Given the description of an element on the screen output the (x, y) to click on. 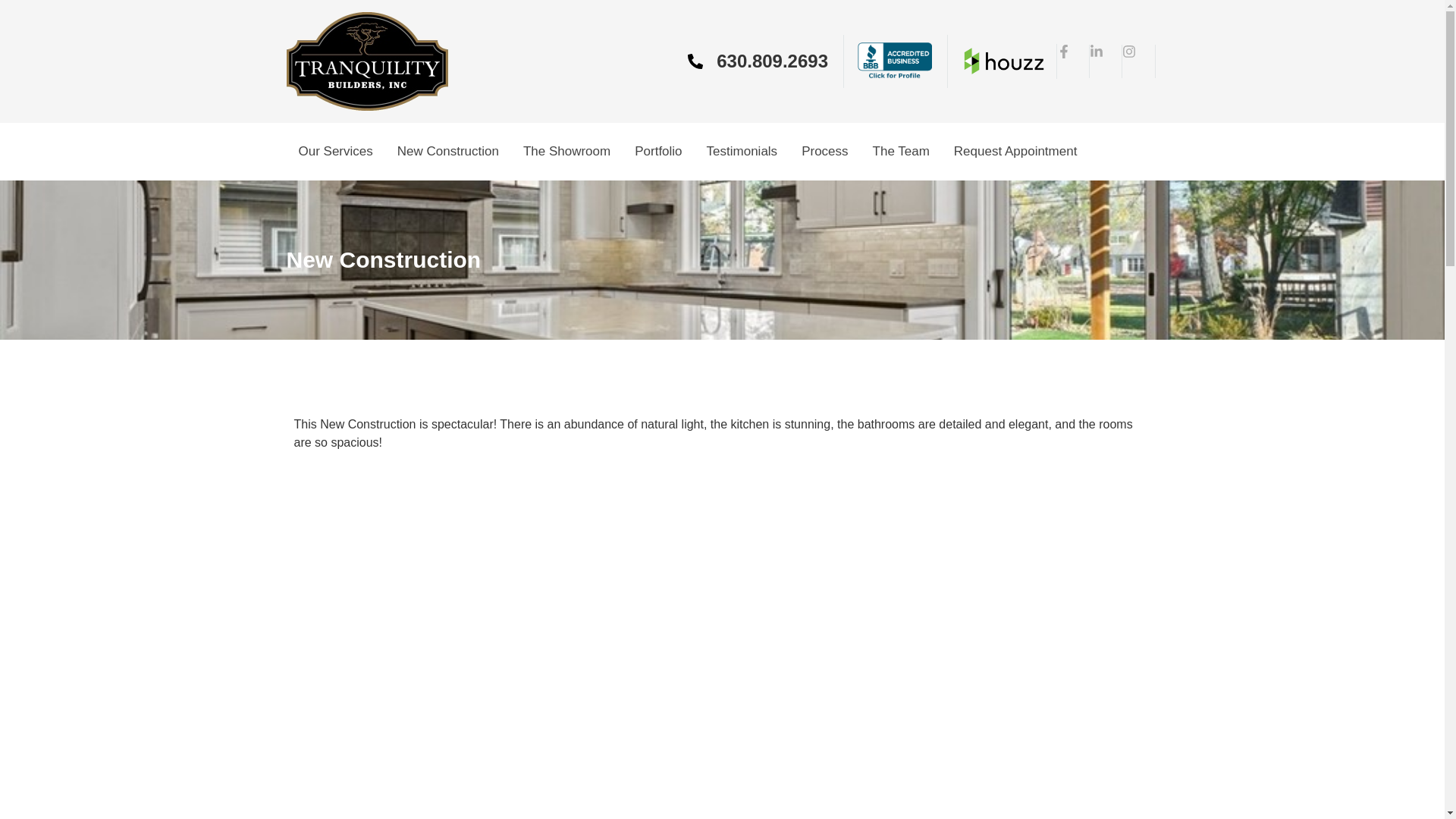
The Team (901, 151)
Process (824, 151)
Testimonials (742, 151)
Our Services (335, 151)
Portfolio (658, 151)
Request Appointment (1015, 151)
630.809.2693 (757, 61)
The Showroom (567, 151)
New Construction (448, 151)
